Given the description of an element on the screen output the (x, y) to click on. 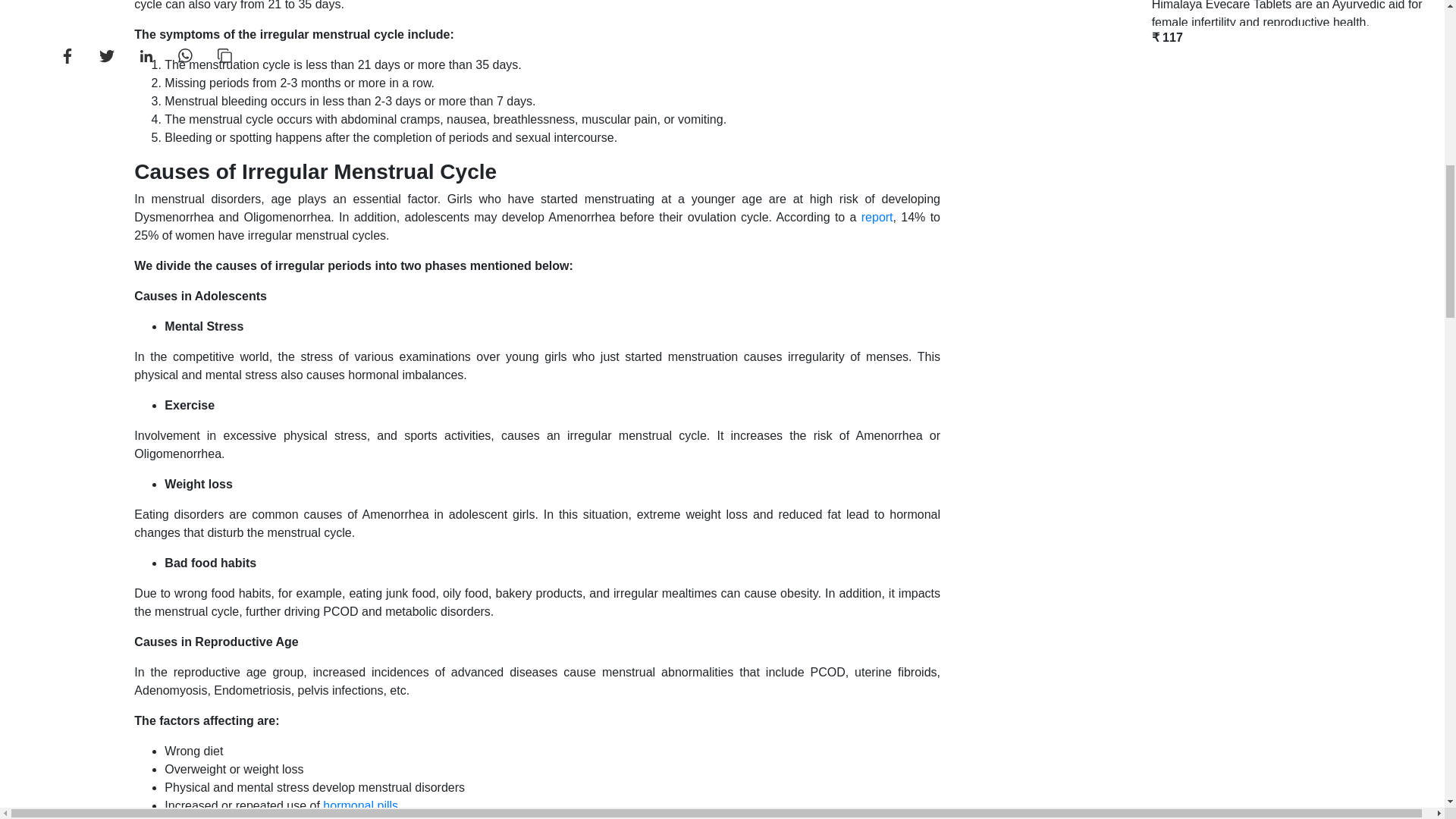
report (877, 216)
hormonal pills (360, 805)
